Given the description of an element on the screen output the (x, y) to click on. 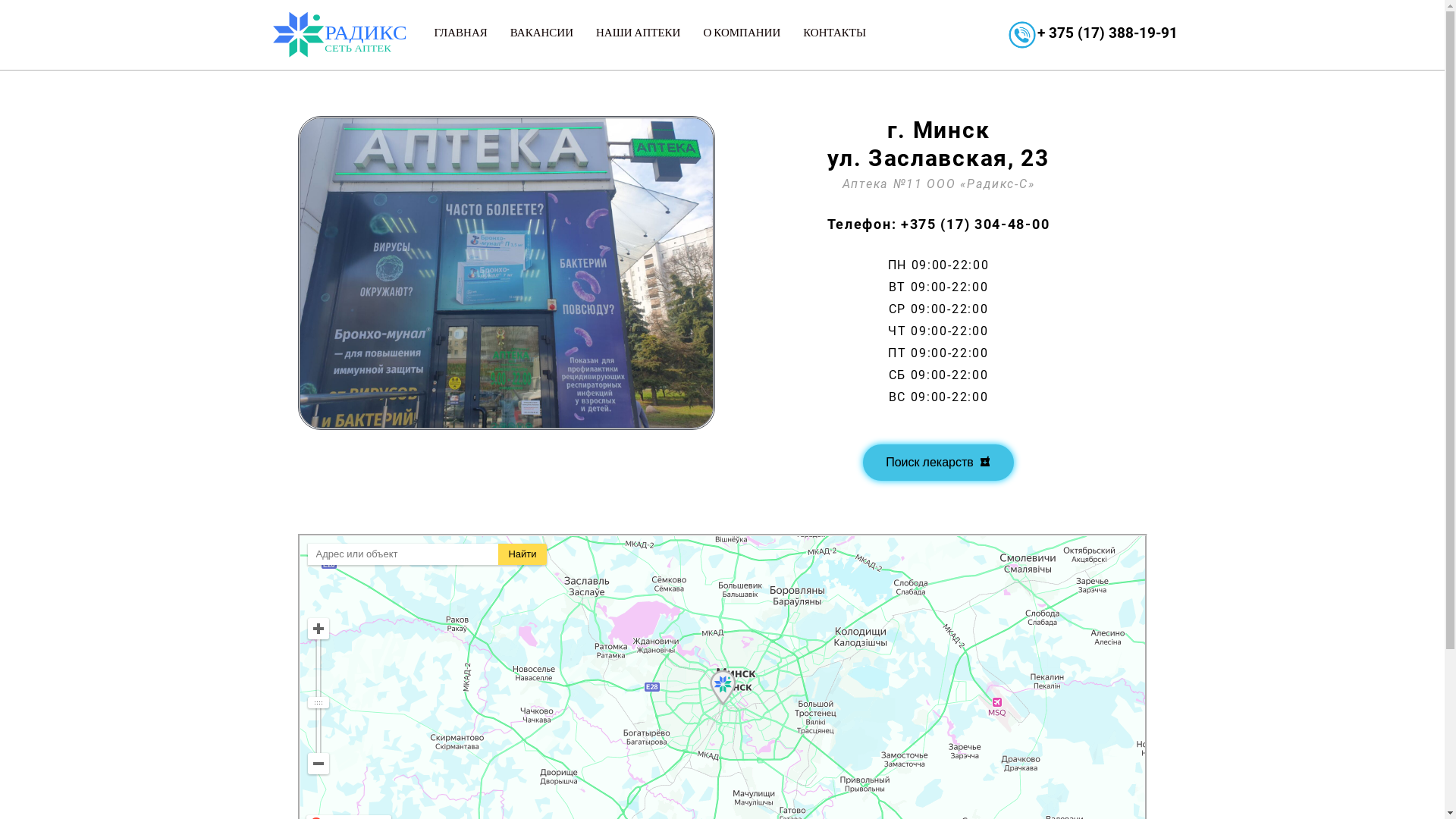
+ 375 (17) 388-19-91 Element type: text (1107, 33)
